Given the description of an element on the screen output the (x, y) to click on. 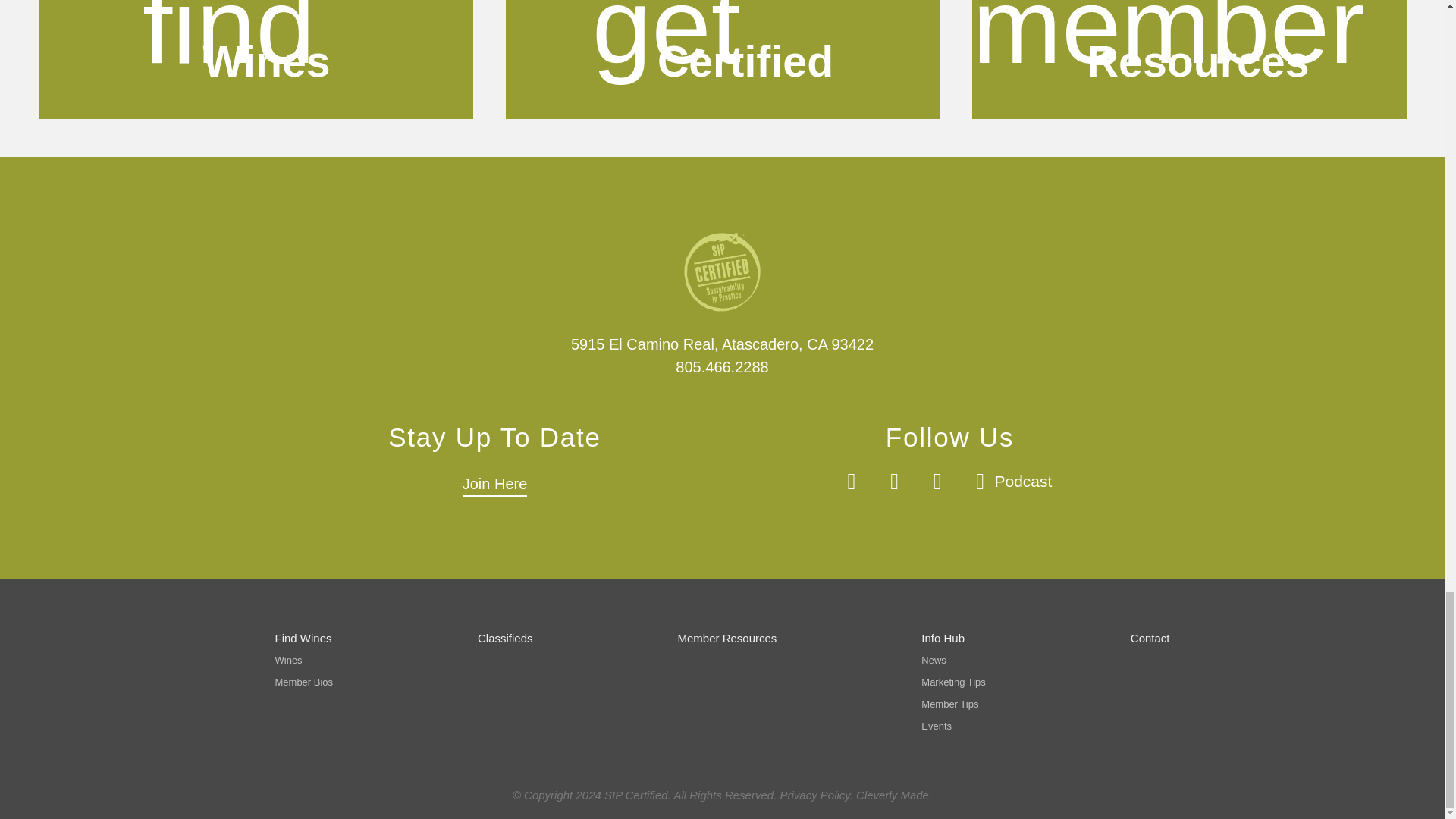
805.466.2288 (721, 366)
Wines (256, 59)
Join Here (288, 659)
Classifieds (495, 485)
Member Resources (504, 637)
Find Wines (722, 59)
Podcast (726, 637)
Member Bios (303, 637)
